Given the description of an element on the screen output the (x, y) to click on. 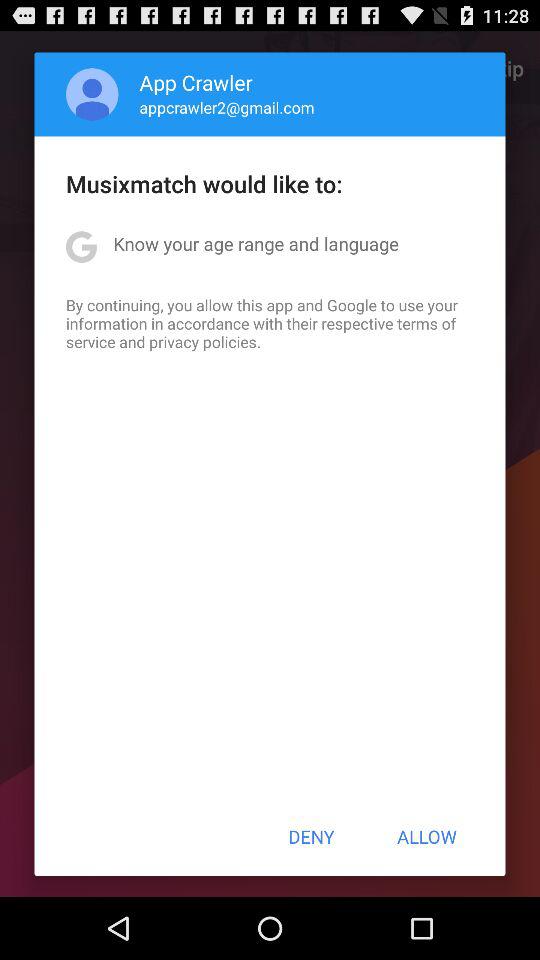
choose the item above the appcrawler2@gmail.com item (195, 82)
